Given the description of an element on the screen output the (x, y) to click on. 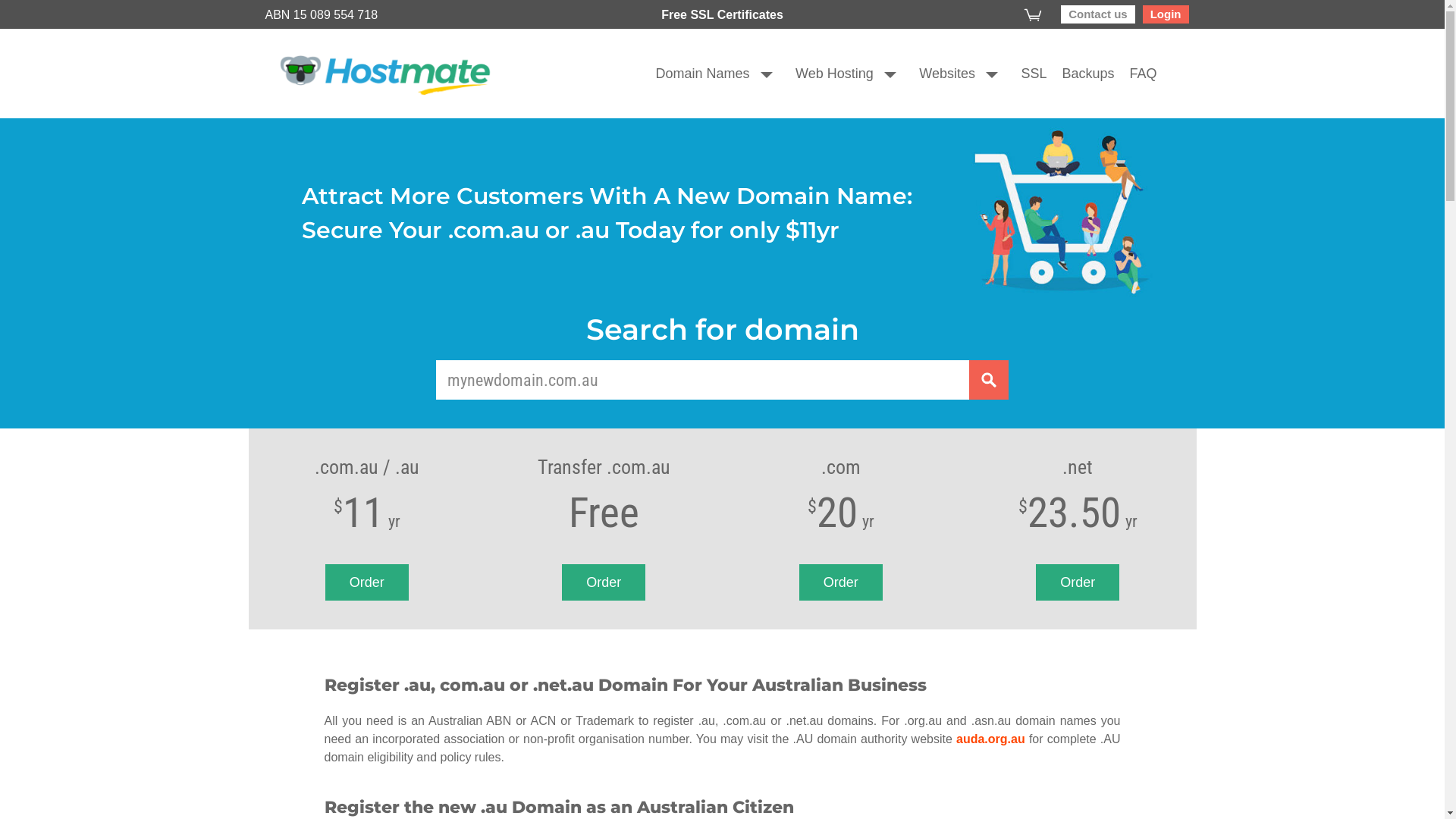
Backups Element type: text (1079, 73)
Order Element type: text (840, 582)
auda.org.au Element type: text (990, 738)
Web Hosting Element type: text (826, 73)
Order Element type: text (366, 582)
FAQ Element type: text (1134, 73)
Contact us Element type: text (1097, 14)
Login Element type: text (1165, 14)
SSL Element type: text (1025, 73)
Order Element type: text (603, 582)
Domain Names Element type: text (694, 73)
Order Element type: text (1077, 582)
Websites Element type: text (939, 73)
